Given the description of an element on the screen output the (x, y) to click on. 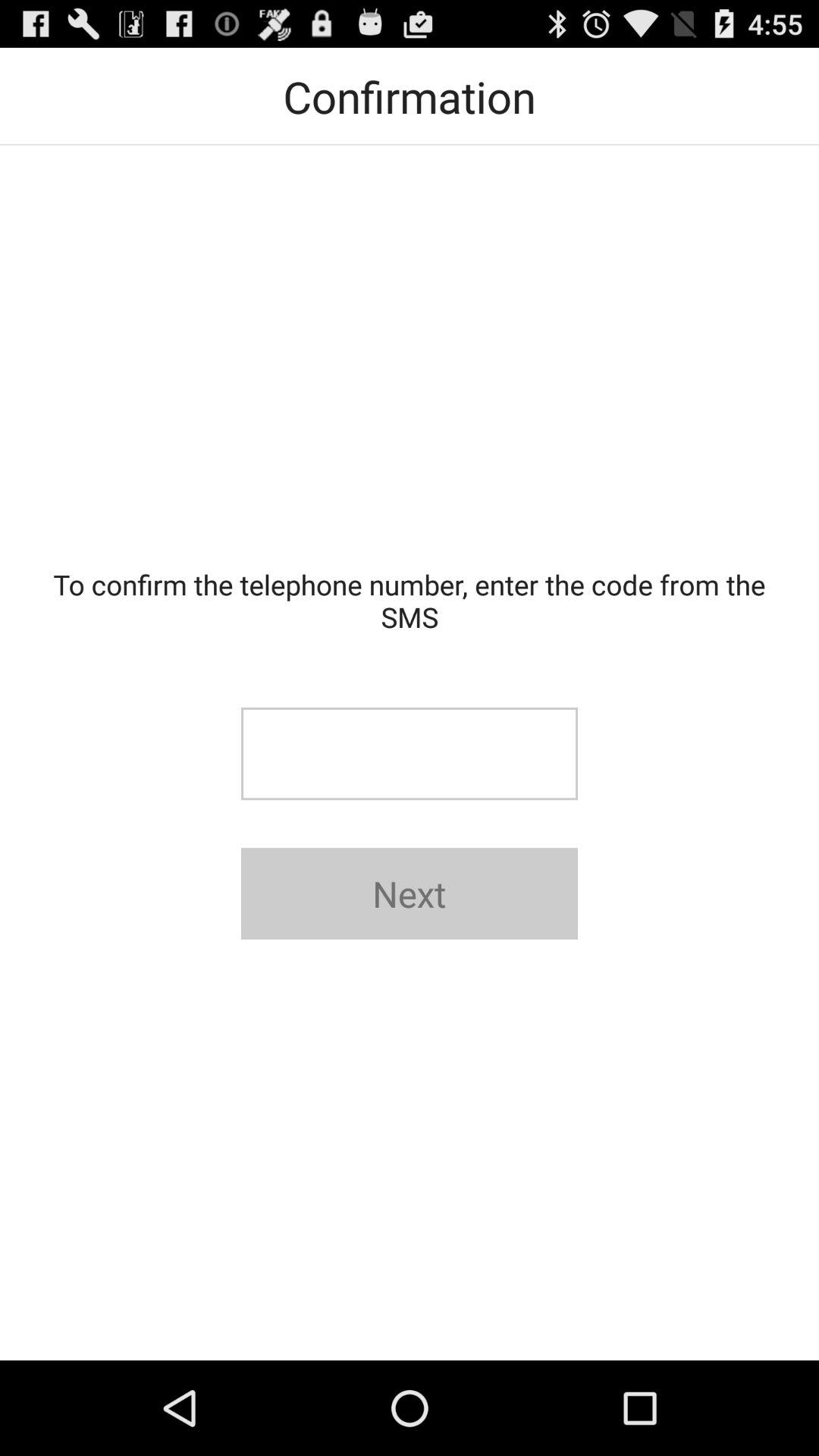
text box (409, 753)
